Given the description of an element on the screen output the (x, y) to click on. 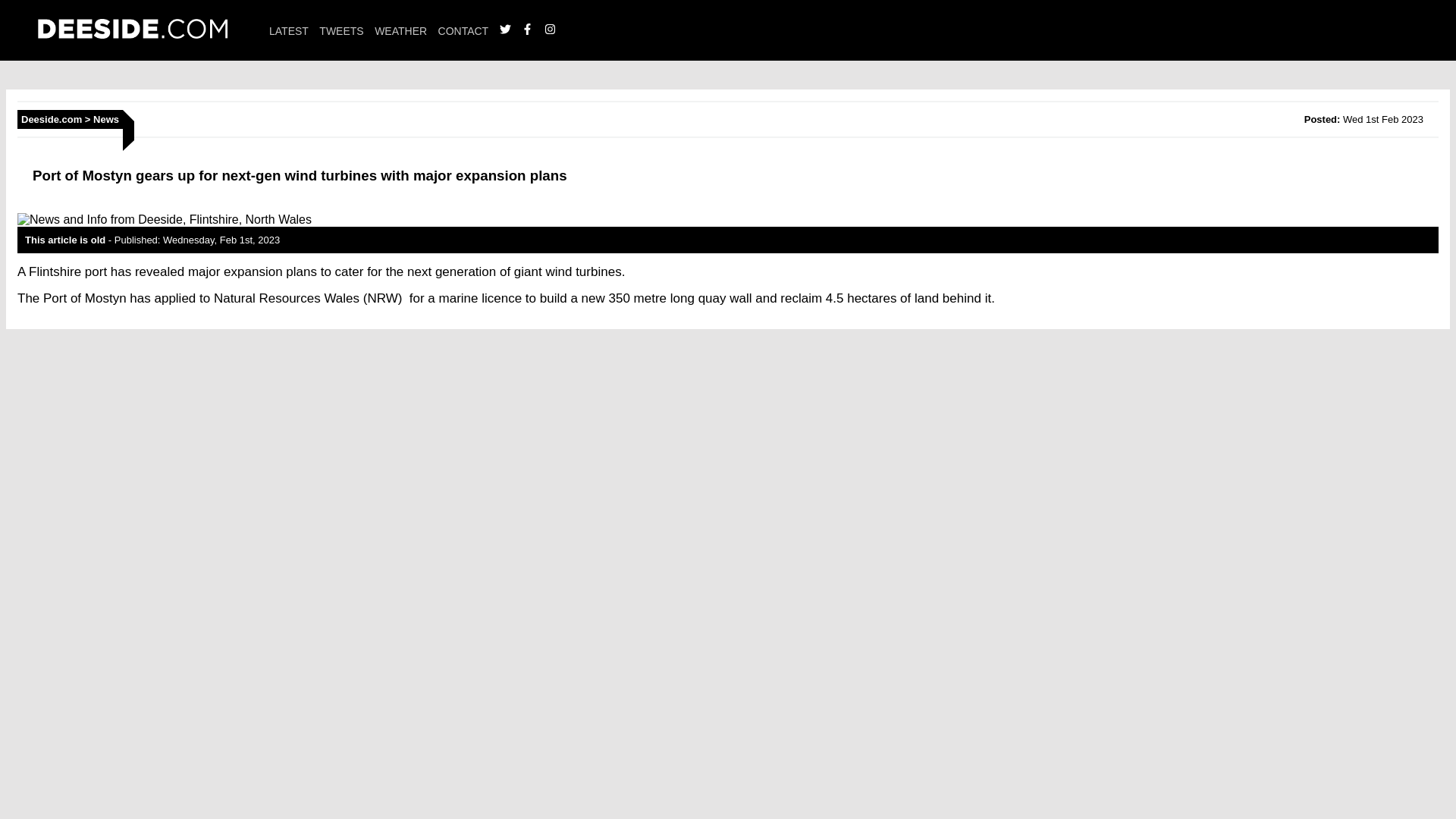
LATEST (288, 30)
TWEETS (340, 30)
CONTACT (463, 30)
WEATHER (400, 30)
